Given the description of an element on the screen output the (x, y) to click on. 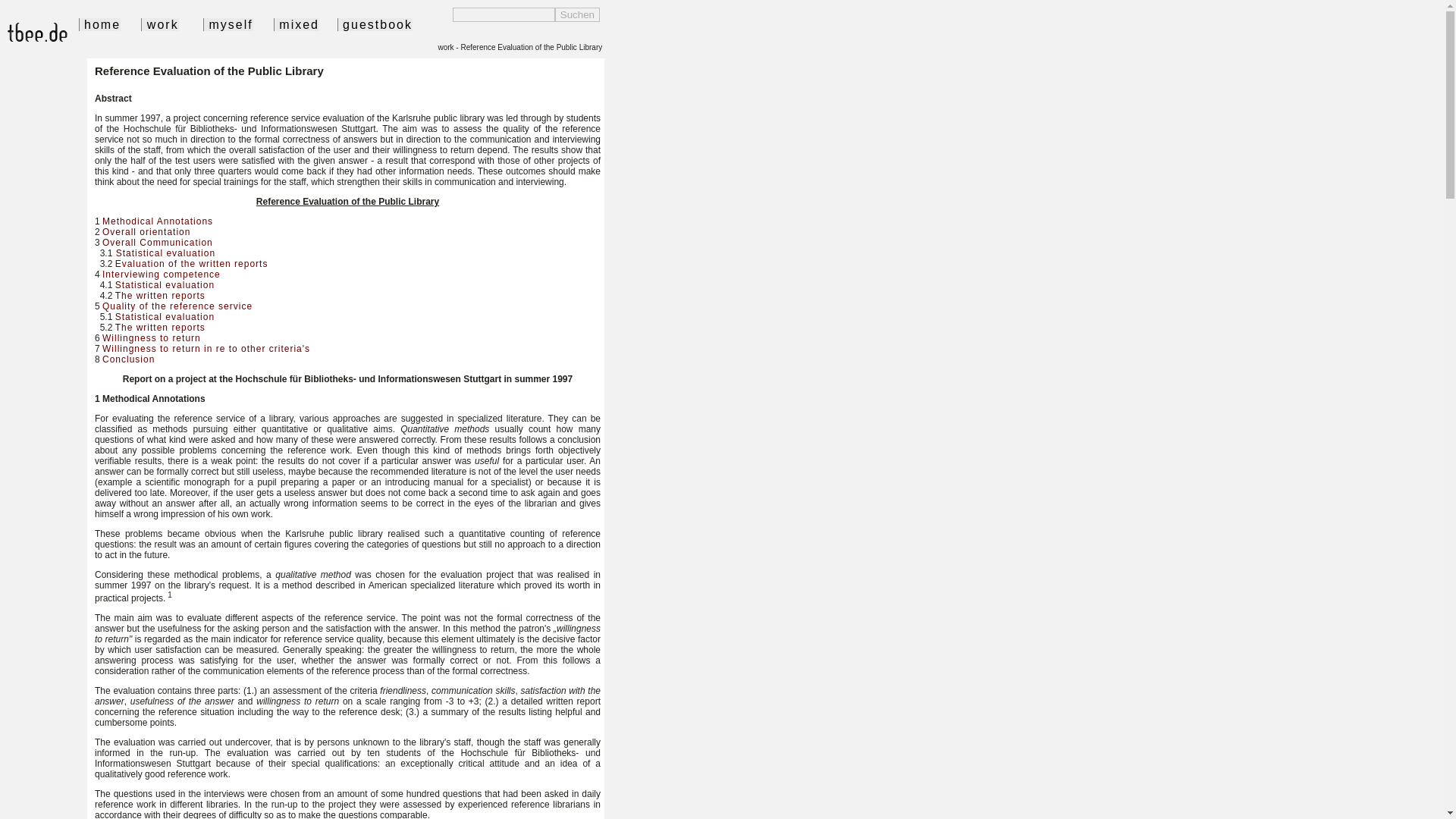
Statistical evaluation (164, 317)
 myself (228, 24)
Evaluation of the written reports (191, 263)
The written reports (160, 327)
Suchen (576, 14)
Overall Communication (156, 242)
Suchen (576, 14)
Methodical Annotations (156, 221)
Overall orientation (145, 231)
Quality of the reference service (176, 306)
